Given the description of an element on the screen output the (x, y) to click on. 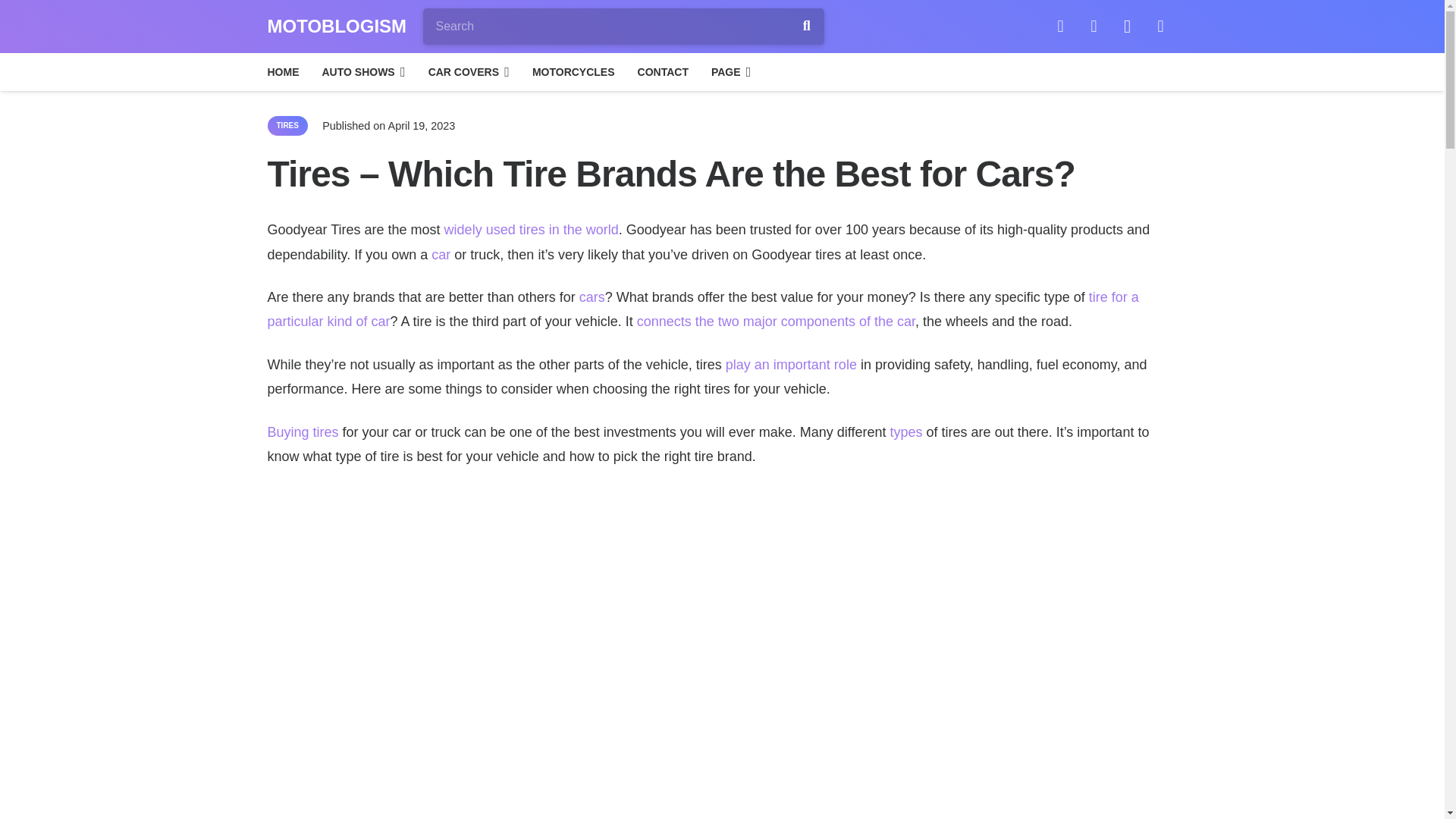
CAR COVERS (468, 71)
HOME (283, 71)
Automakers Rushing to Provide Connected Car Services (776, 321)
cars (592, 296)
TIRES (286, 125)
Facebook (1060, 26)
play an important role (791, 364)
Twitter (1093, 26)
YouTube (1160, 26)
car (439, 254)
How to Get A Custom Hood Cover for Your Car (592, 296)
Indulge in Luxury With Rolls Royce Motor Cars (439, 254)
AUTO SHOWS (363, 71)
Instagram (1127, 26)
